Given the description of an element on the screen output the (x, y) to click on. 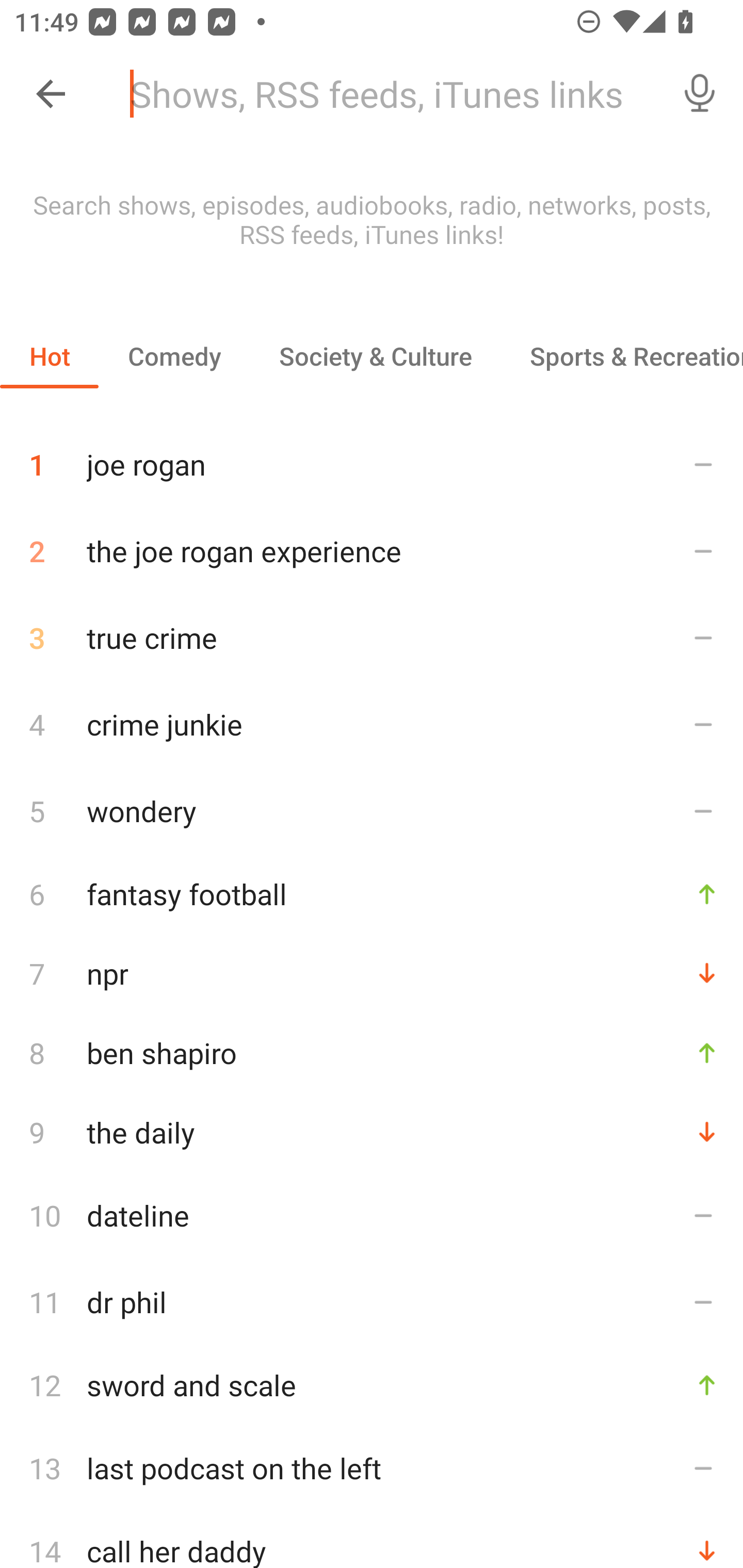
Collapse (50, 93)
Voice Search (699, 93)
Shows, RSS feeds, iTunes links (385, 94)
Hot (49, 355)
Comedy (173, 355)
Society & Culture (374, 355)
Sports & Recreation (621, 355)
1 joe rogan (371, 457)
2 the joe rogan experience (371, 551)
3 true crime (371, 637)
4 crime junkie (371, 723)
5 wondery (371, 810)
6 fantasy football (371, 893)
7 npr (371, 972)
8 ben shapiro (371, 1052)
9 the daily (371, 1131)
10 dateline (371, 1215)
11 dr phil (371, 1302)
12 sword and scale (371, 1385)
13 last podcast on the left (371, 1468)
14 call her daddy (371, 1539)
